Given the description of an element on the screen output the (x, y) to click on. 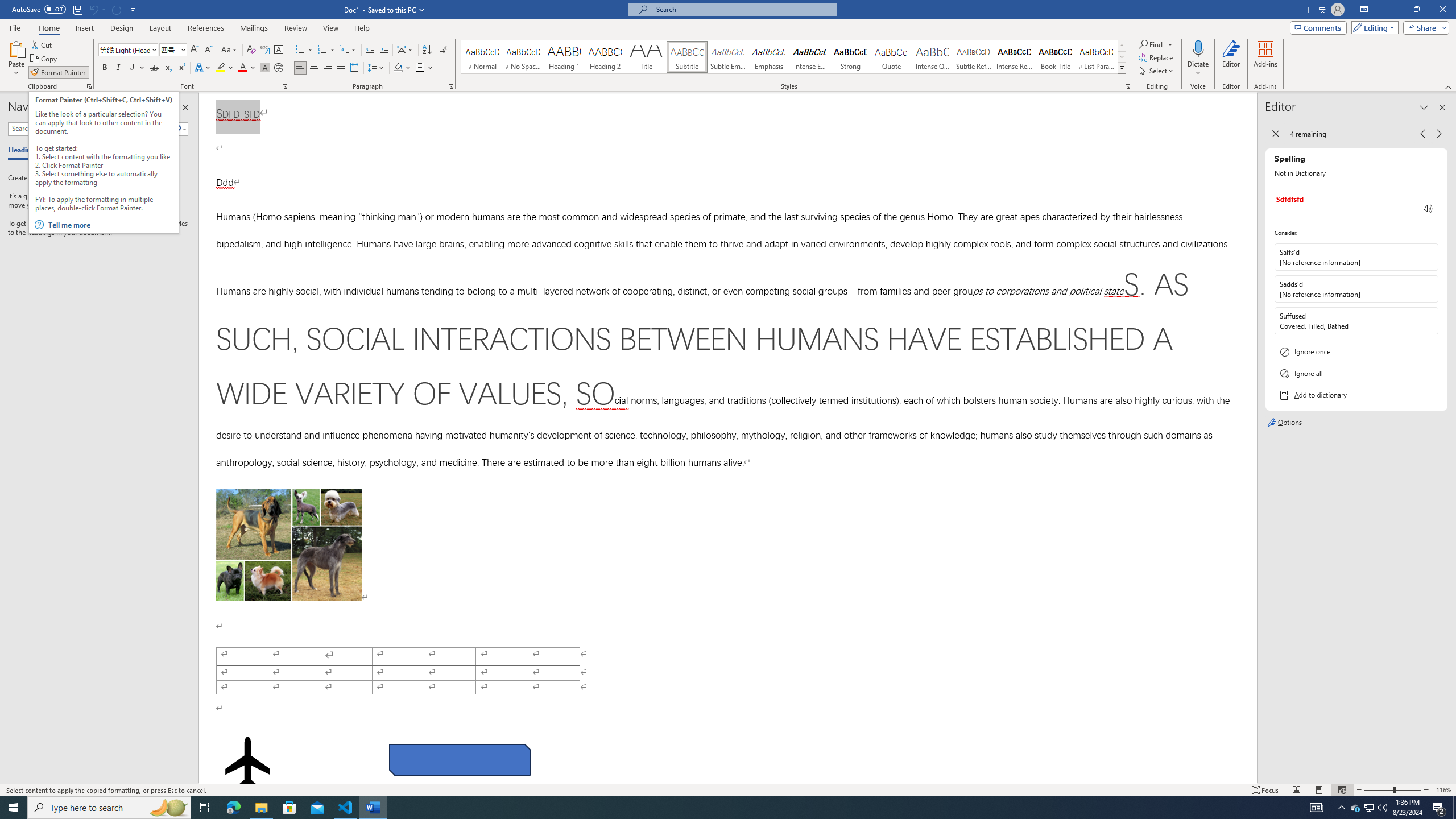
Borders (424, 67)
Text Highlight Color Yellow (220, 67)
Next Issue, 4 remaining (1439, 133)
Open (182, 49)
Font Color Red (241, 67)
Print Layout (1318, 790)
Mode (1372, 27)
Close pane (185, 107)
Can't Undo (92, 9)
Styles... (1127, 85)
Distributed (354, 67)
Underline (131, 67)
Find (1155, 44)
More Options (1197, 68)
